Given the description of an element on the screen output the (x, y) to click on. 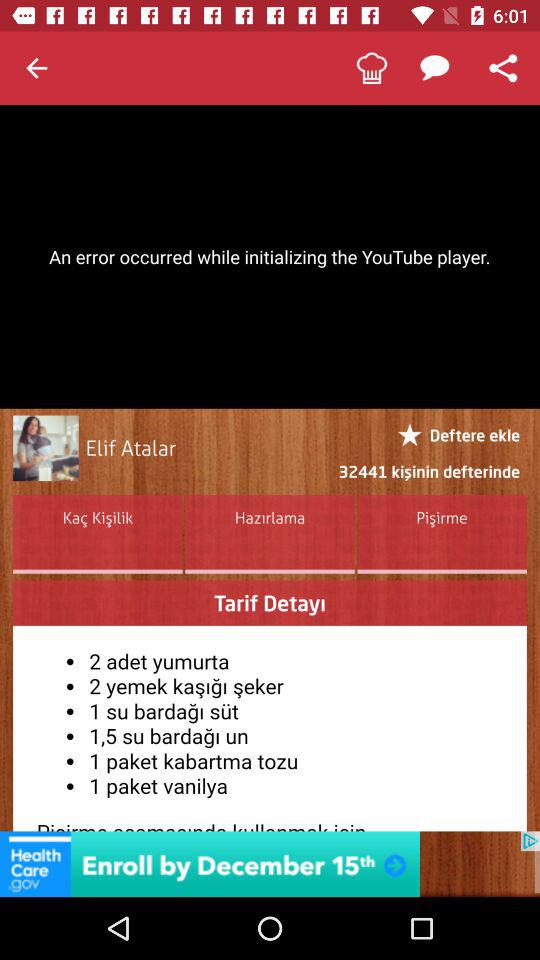
open advertisement (270, 864)
